Given the description of an element on the screen output the (x, y) to click on. 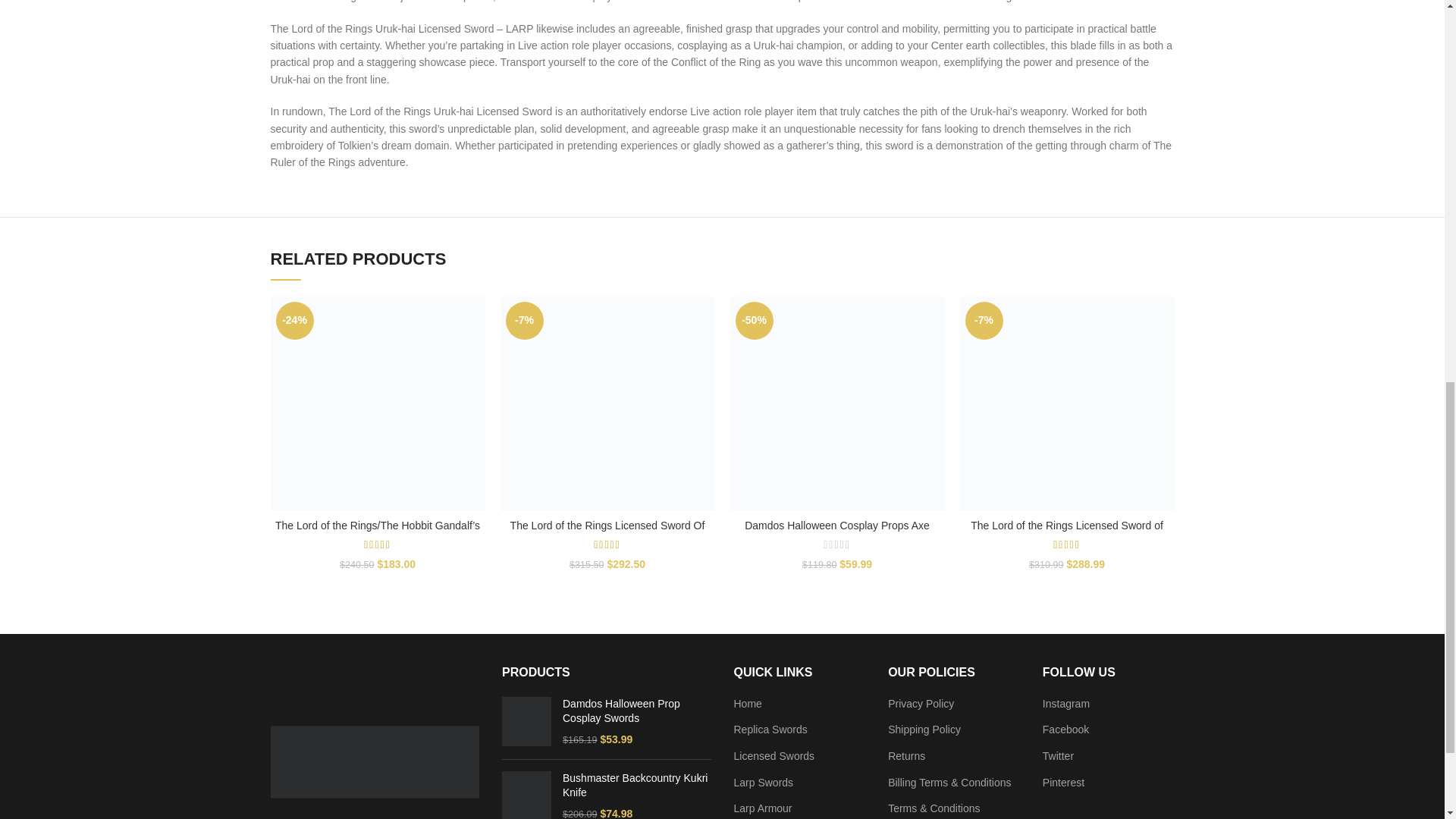
Damdos Halloween Prop Cosplay Swords (636, 711)
Damdos Halloween Prop Cosplay Swords (526, 721)
Bushmaster Backcountry Kukri Knife (526, 795)
Bushmaster Backcountry Kukri Knife (636, 785)
